Given the description of an element on the screen output the (x, y) to click on. 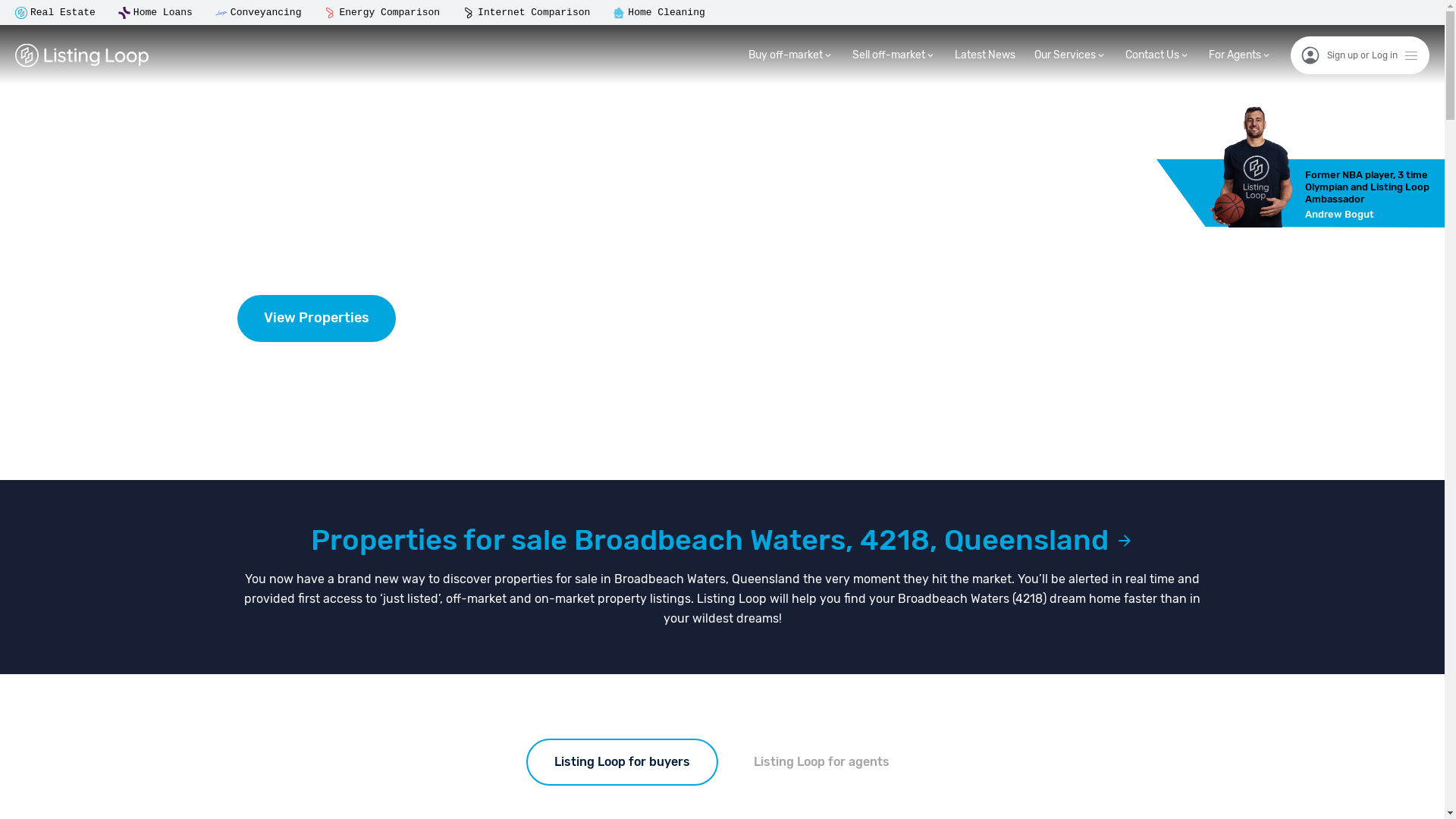
Properties for sale Broadbeach Waters, 4218, Queensland Element type: text (721, 539)
Home Loans Element type: text (162, 12)
Internet Comparison Element type: text (533, 12)
Energy Comparison Element type: text (388, 12)
Conveyancing Element type: text (265, 12)
Latest News Element type: text (984, 54)
View Properties Element type: text (315, 318)
Home Cleaning Element type: text (665, 12)
View Properties Element type: text (721, 318)
Listing Loop for agents Element type: text (821, 761)
Listing Loop for buyers Element type: text (622, 761)
Real Estate Element type: text (62, 12)
